Given the description of an element on the screen output the (x, y) to click on. 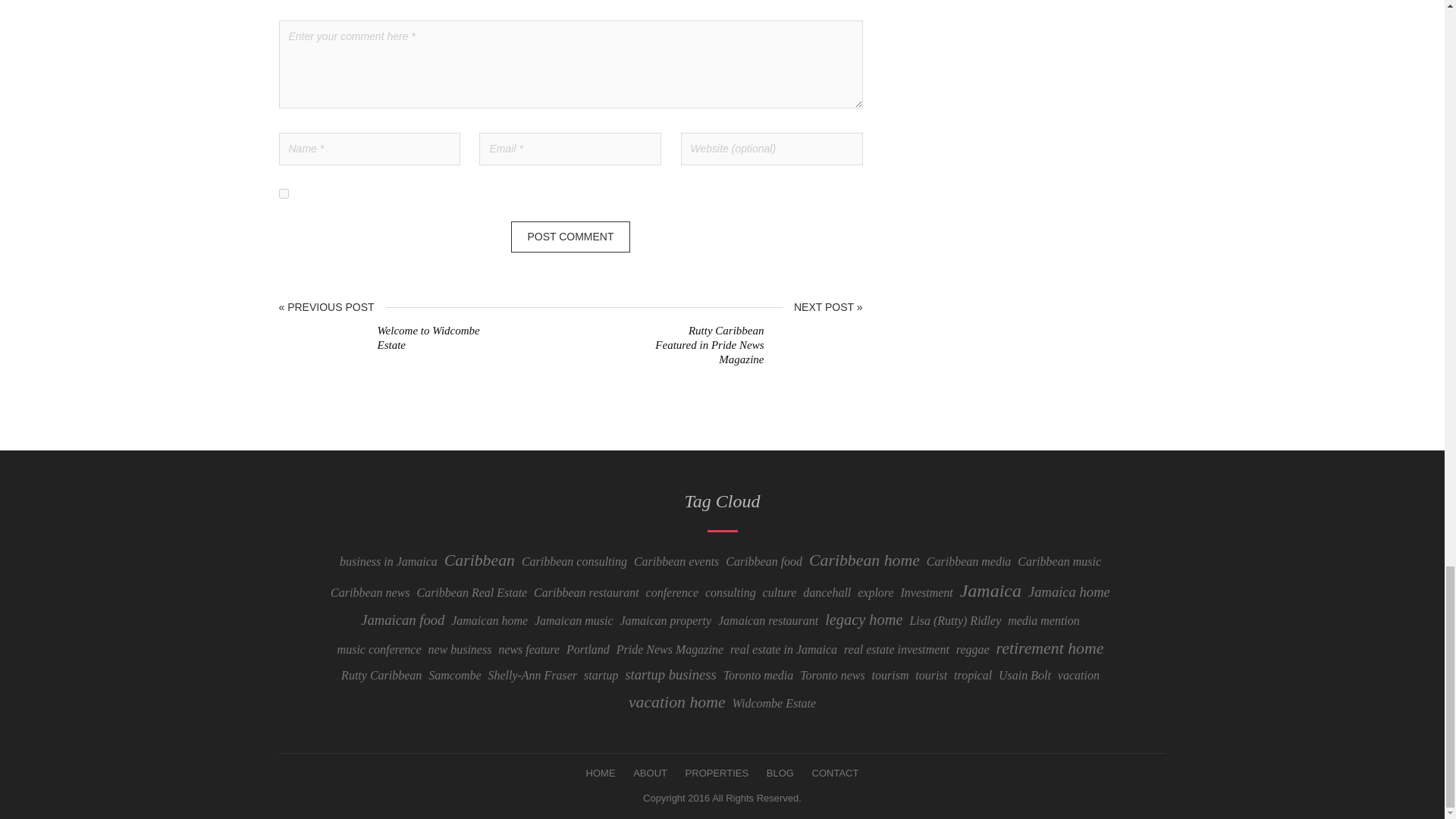
yes (283, 194)
Post Comment (569, 236)
